Given the description of an element on the screen output the (x, y) to click on. 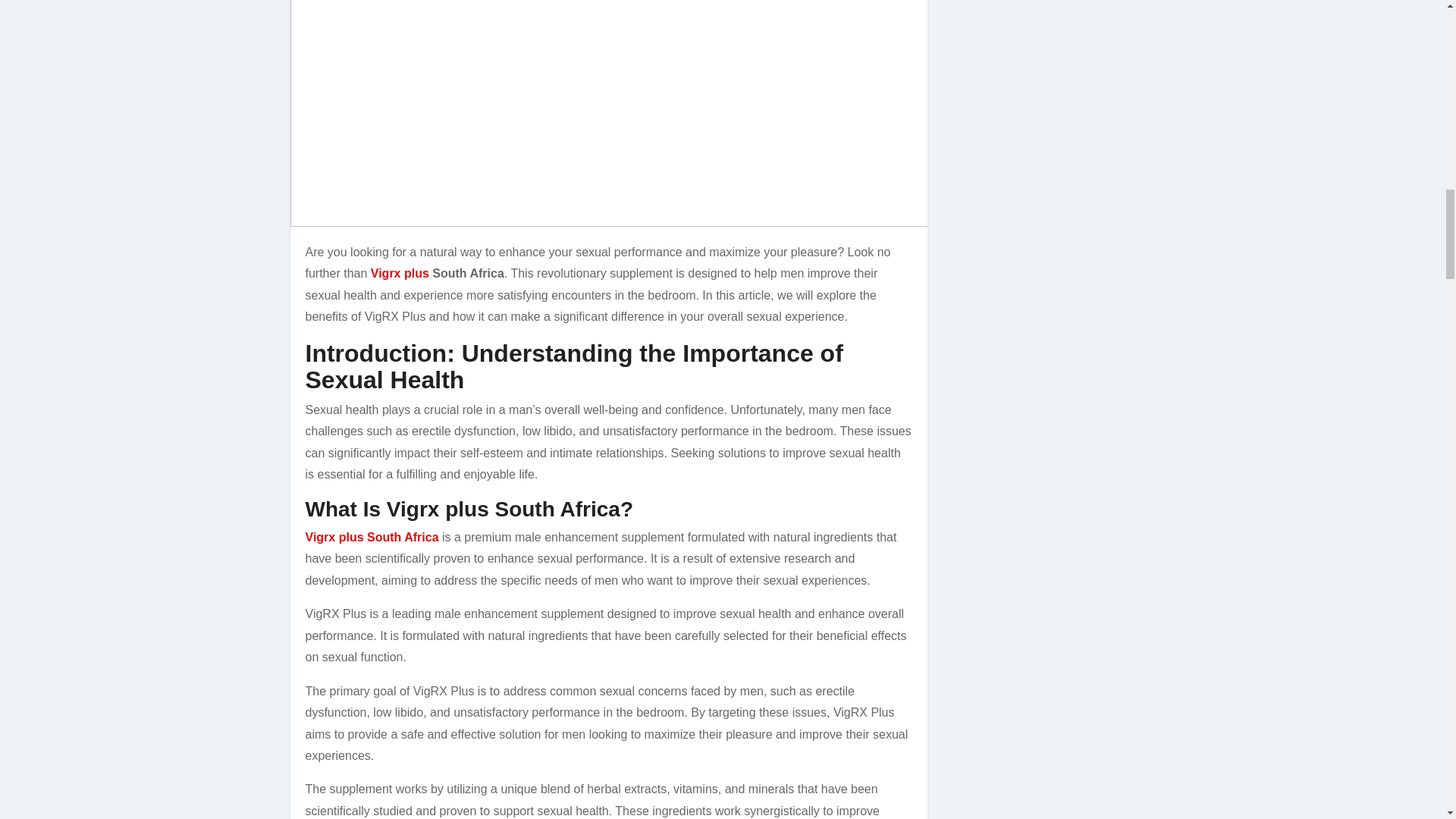
Vigrx plus (400, 273)
Vigrx plus South Africa (371, 536)
